Given the description of an element on the screen output the (x, y) to click on. 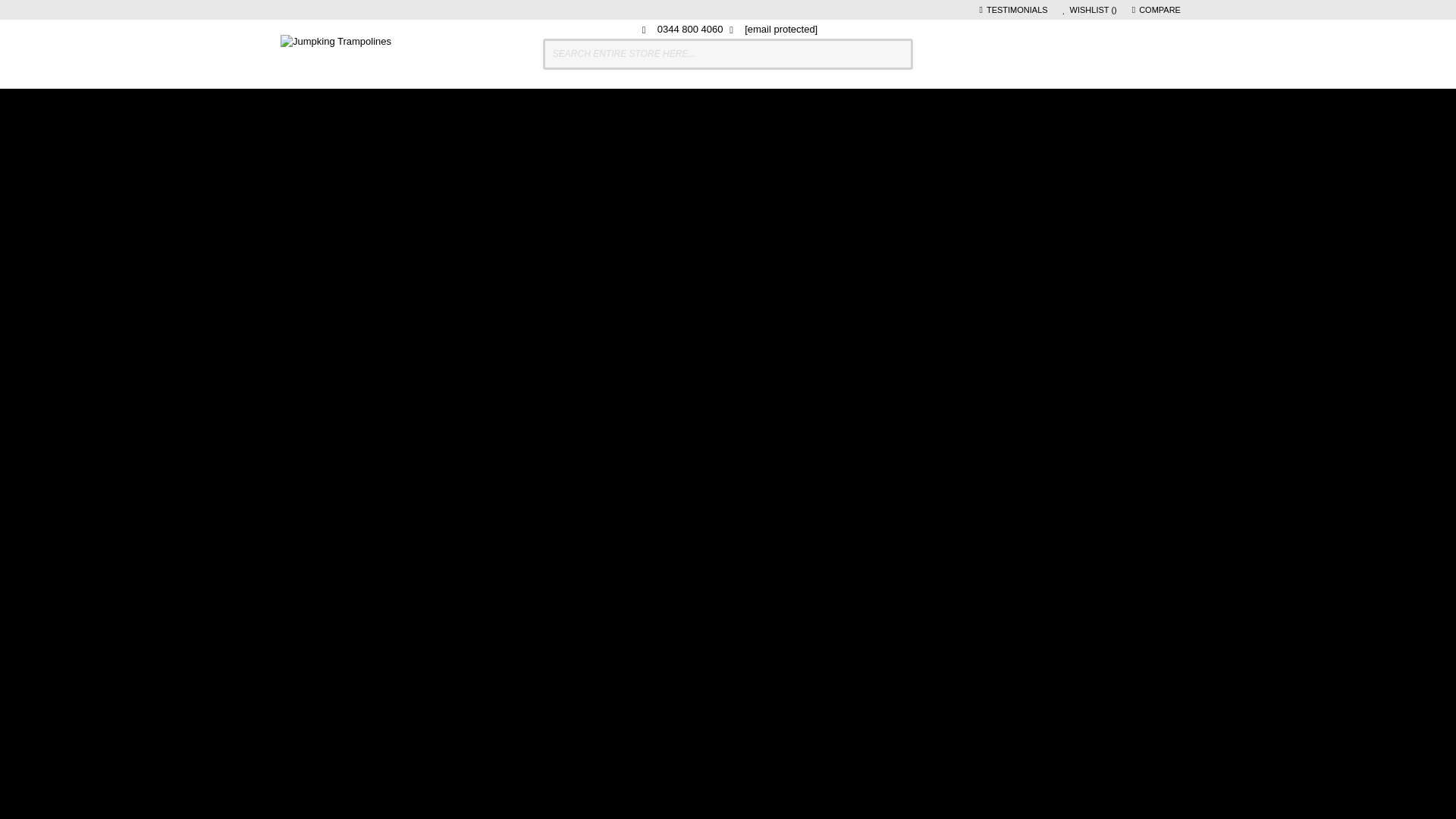
0344 800 4060 (682, 29)
TESTIMONIALS (1013, 9)
Compare (1157, 9)
WISHLIST (1089, 9)
COMPARE (1157, 9)
Jumpking Trampolines (336, 53)
